Given the description of an element on the screen output the (x, y) to click on. 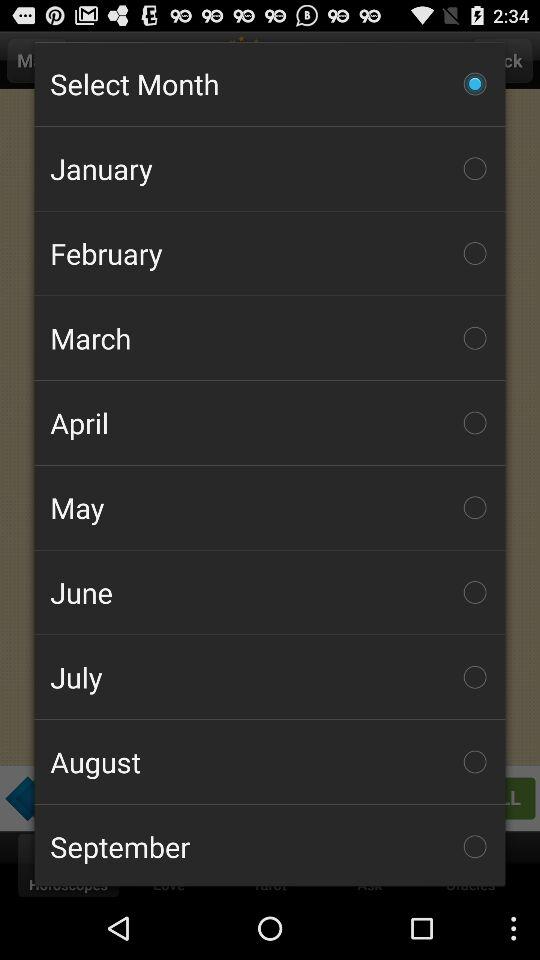
scroll until february item (269, 253)
